Given the description of an element on the screen output the (x, y) to click on. 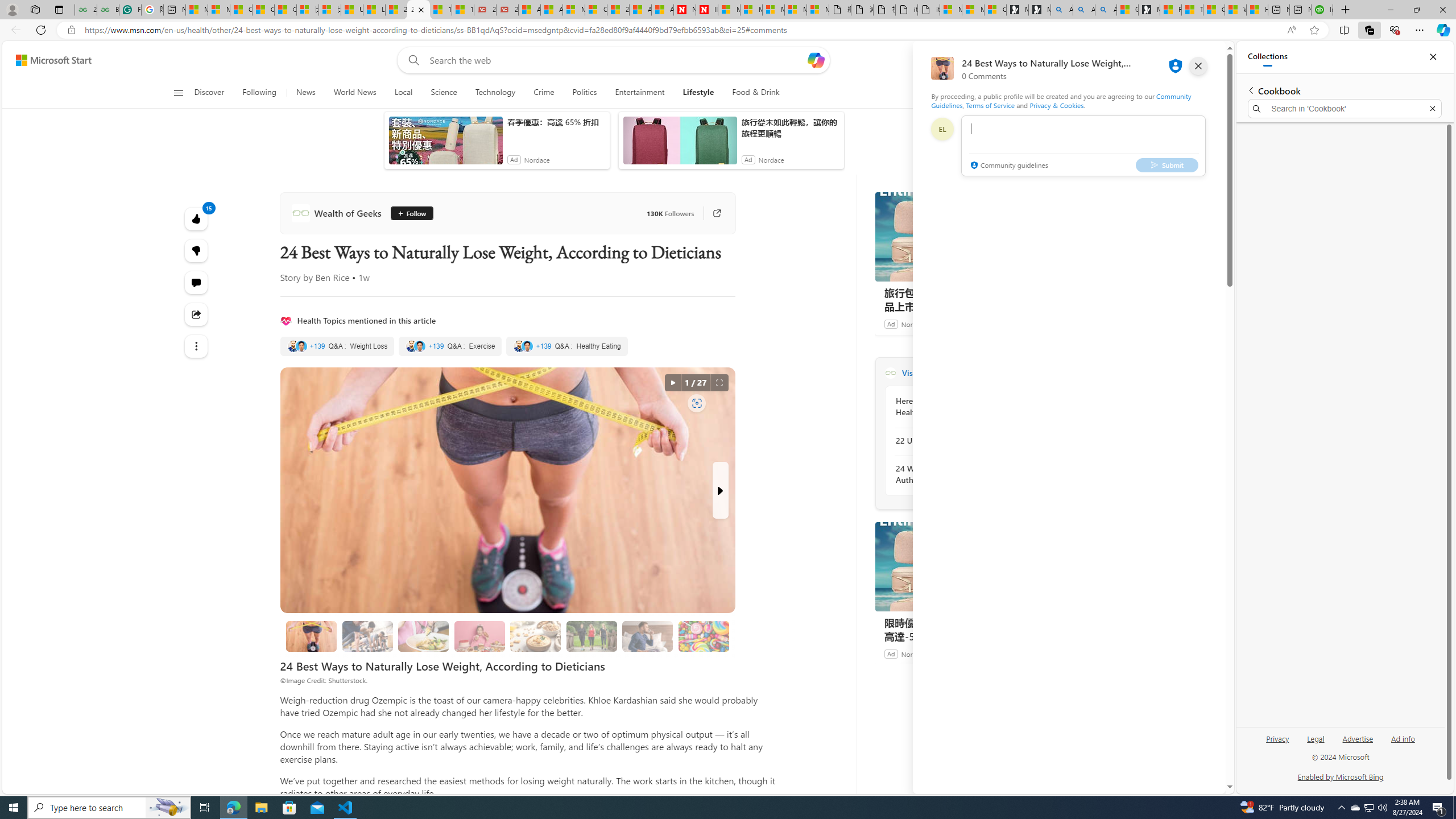
Go to publisher's site (710, 213)
Exit search (1432, 108)
Cherries Help You Recover From Workouts (367, 635)
Alabama high school quarterback dies - Search (1061, 9)
Share this story (196, 314)
Food and Drink - MSN (1170, 9)
Follow (411, 213)
